Given the description of an element on the screen output the (x, y) to click on. 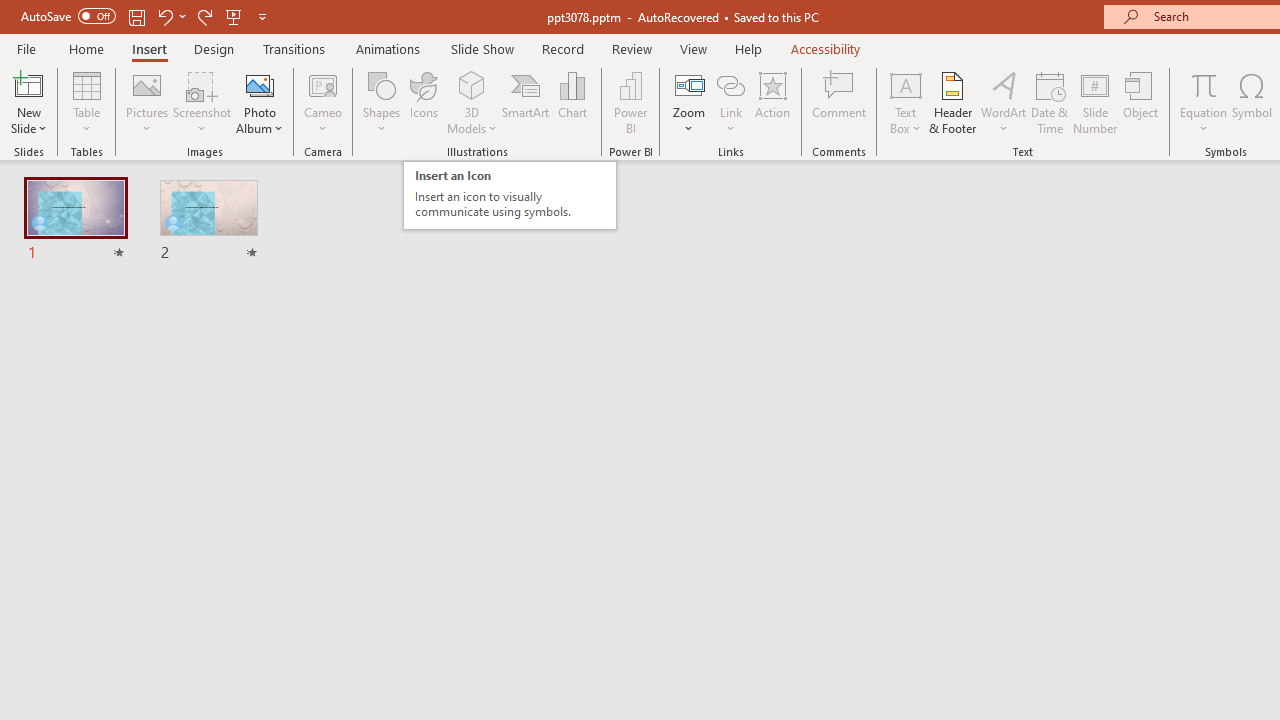
Slide Number (1095, 102)
Screenshot (202, 102)
Icons (424, 102)
3D Models (472, 84)
Draw Horizontal Text Box (905, 84)
